Given the description of an element on the screen output the (x, y) to click on. 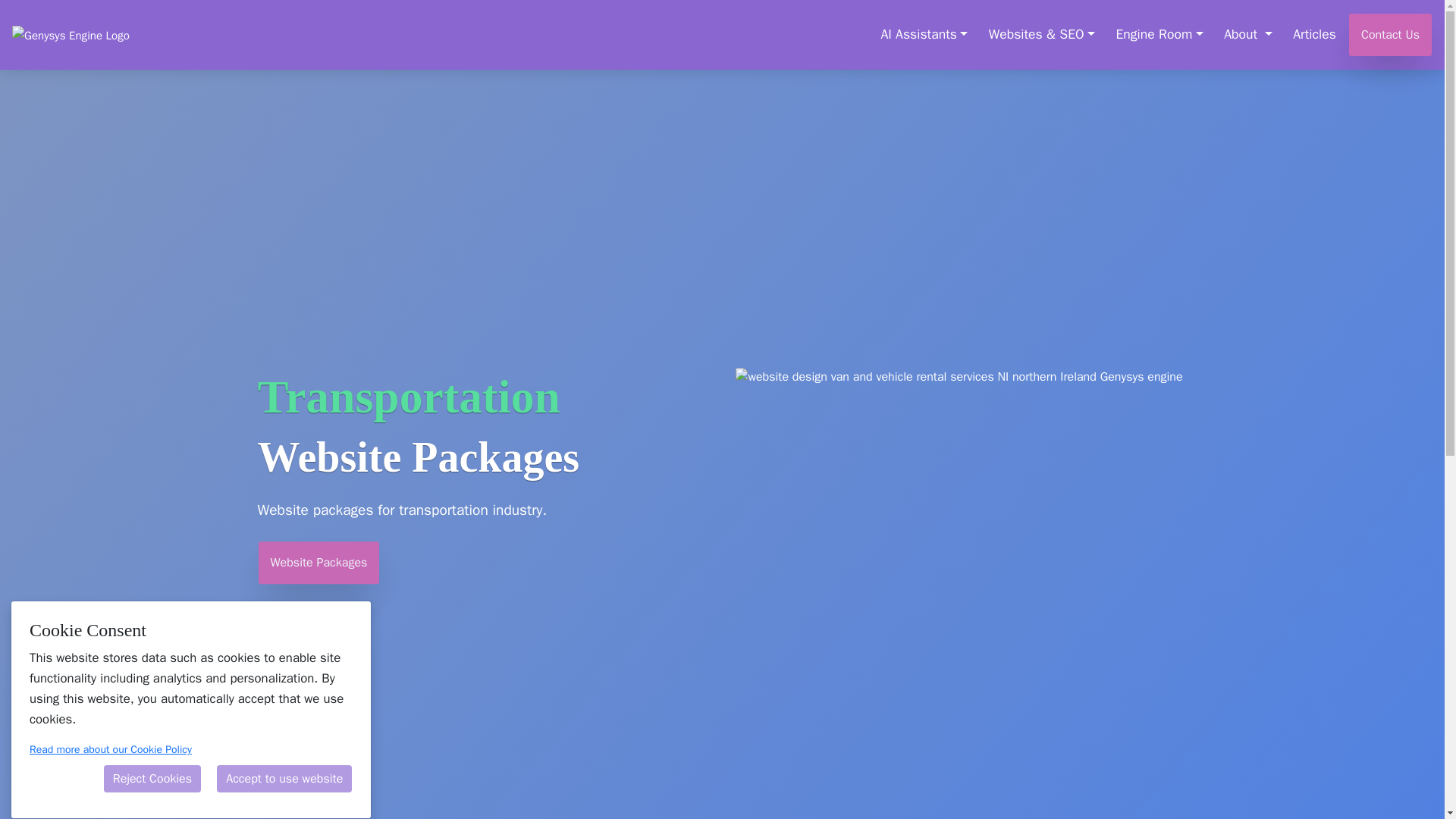
Contact Us (1390, 34)
Articles (1313, 34)
Engine Room (1158, 34)
AI Assistants (923, 34)
Website Packages (317, 562)
About (1248, 34)
